Given the description of an element on the screen output the (x, y) to click on. 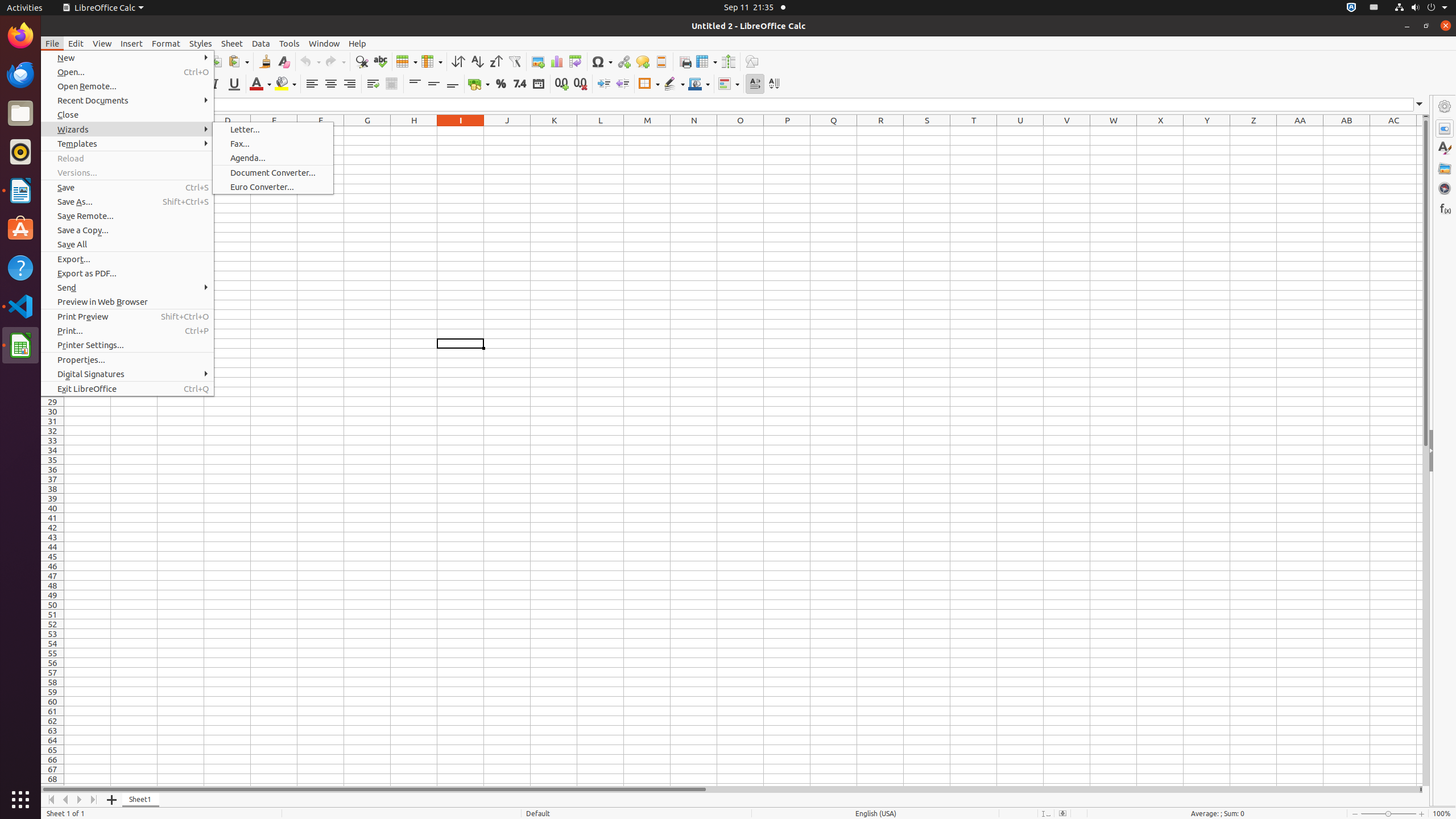
View Element type: menu (102, 43)
Align Bottom Element type: push-button (452, 83)
Chart Element type: push-button (556, 61)
Horizontal scroll bar Element type: scroll-bar (729, 789)
Digital Signatures Element type: menu (126, 373)
